Given the description of an element on the screen output the (x, y) to click on. 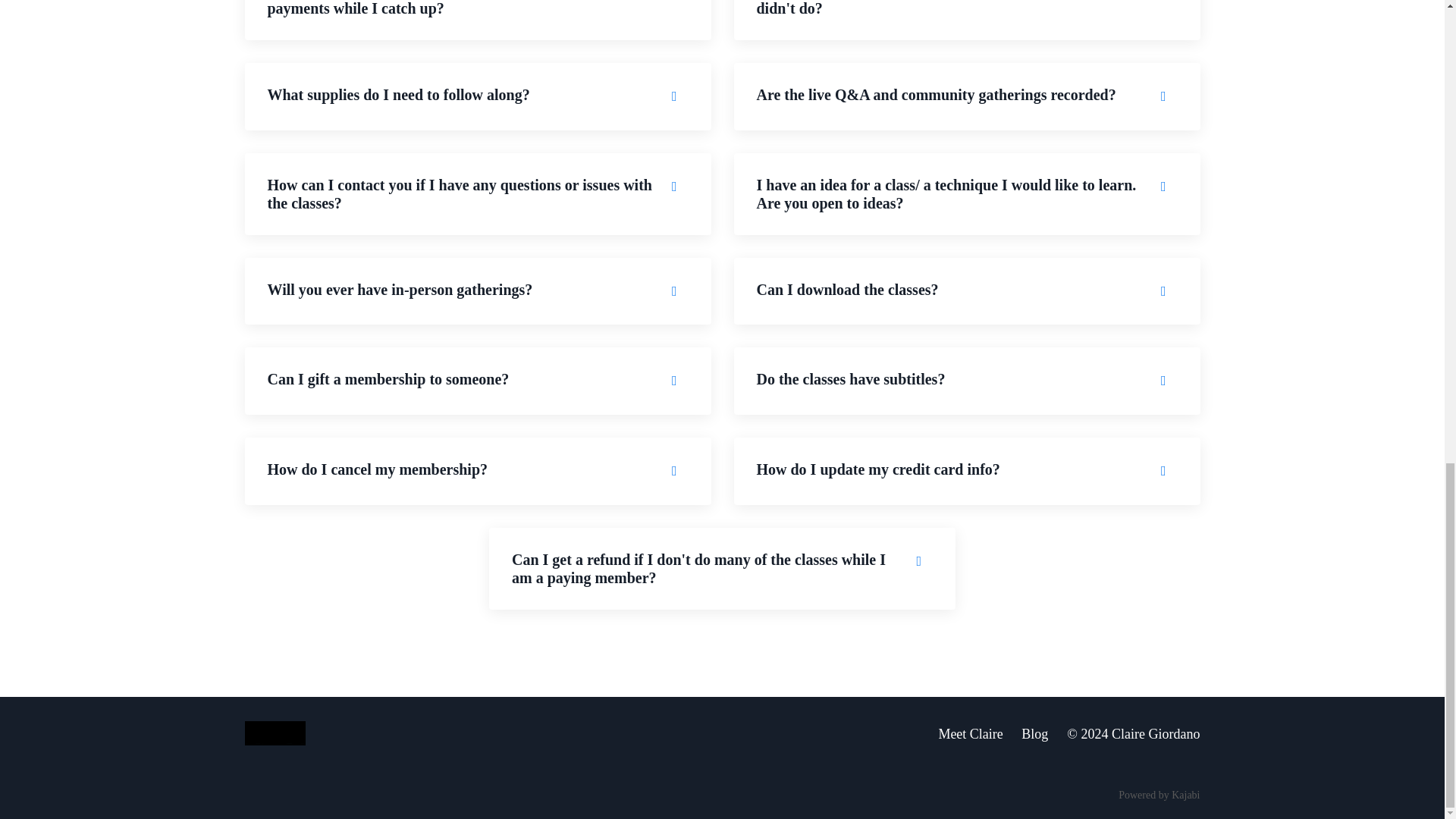
Meet Claire (970, 734)
Powered by Kajabi (1158, 794)
Blog (1035, 734)
